Given the description of an element on the screen output the (x, y) to click on. 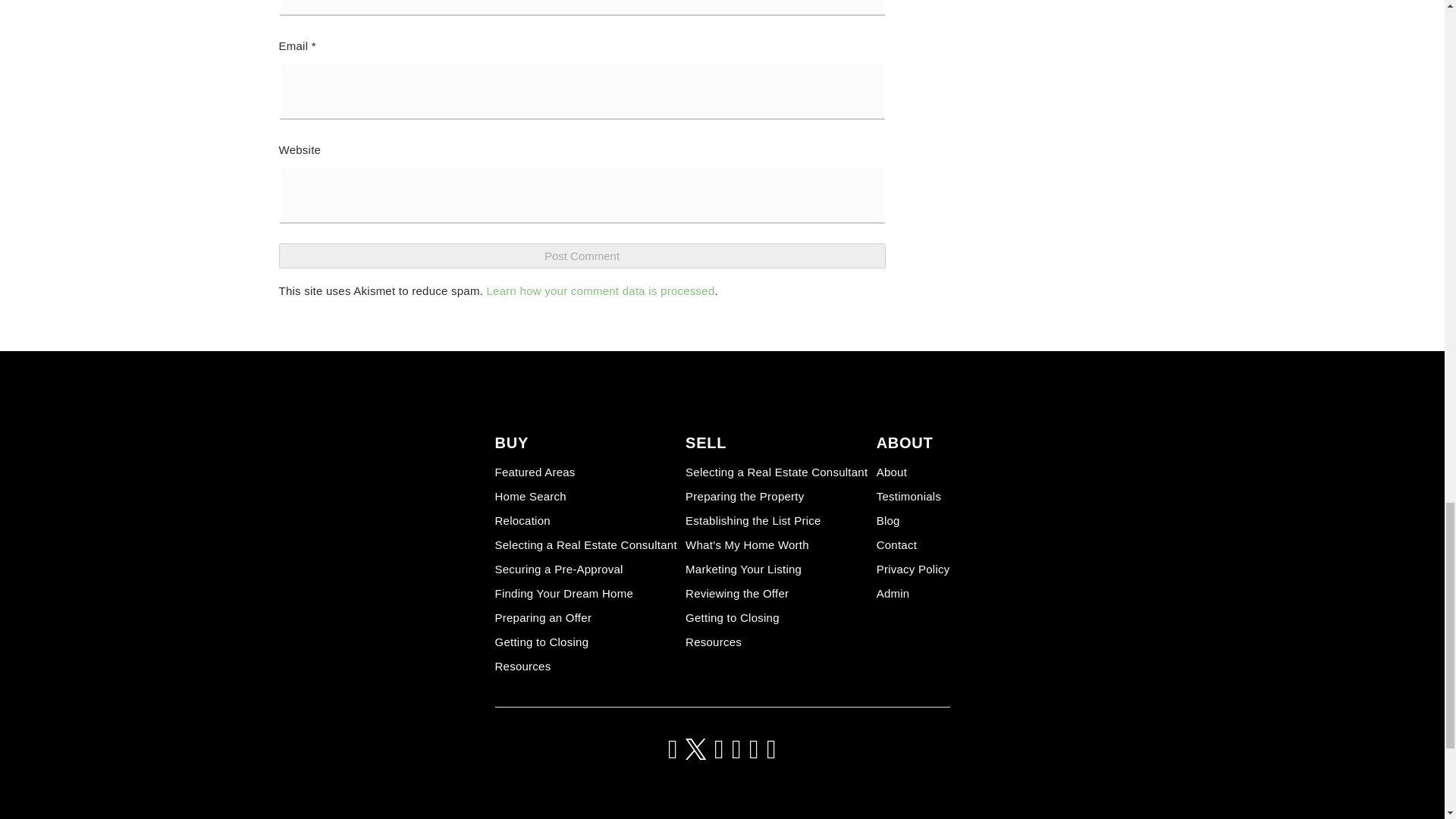
Post Comment (582, 255)
